Given the description of an element on the screen output the (x, y) to click on. 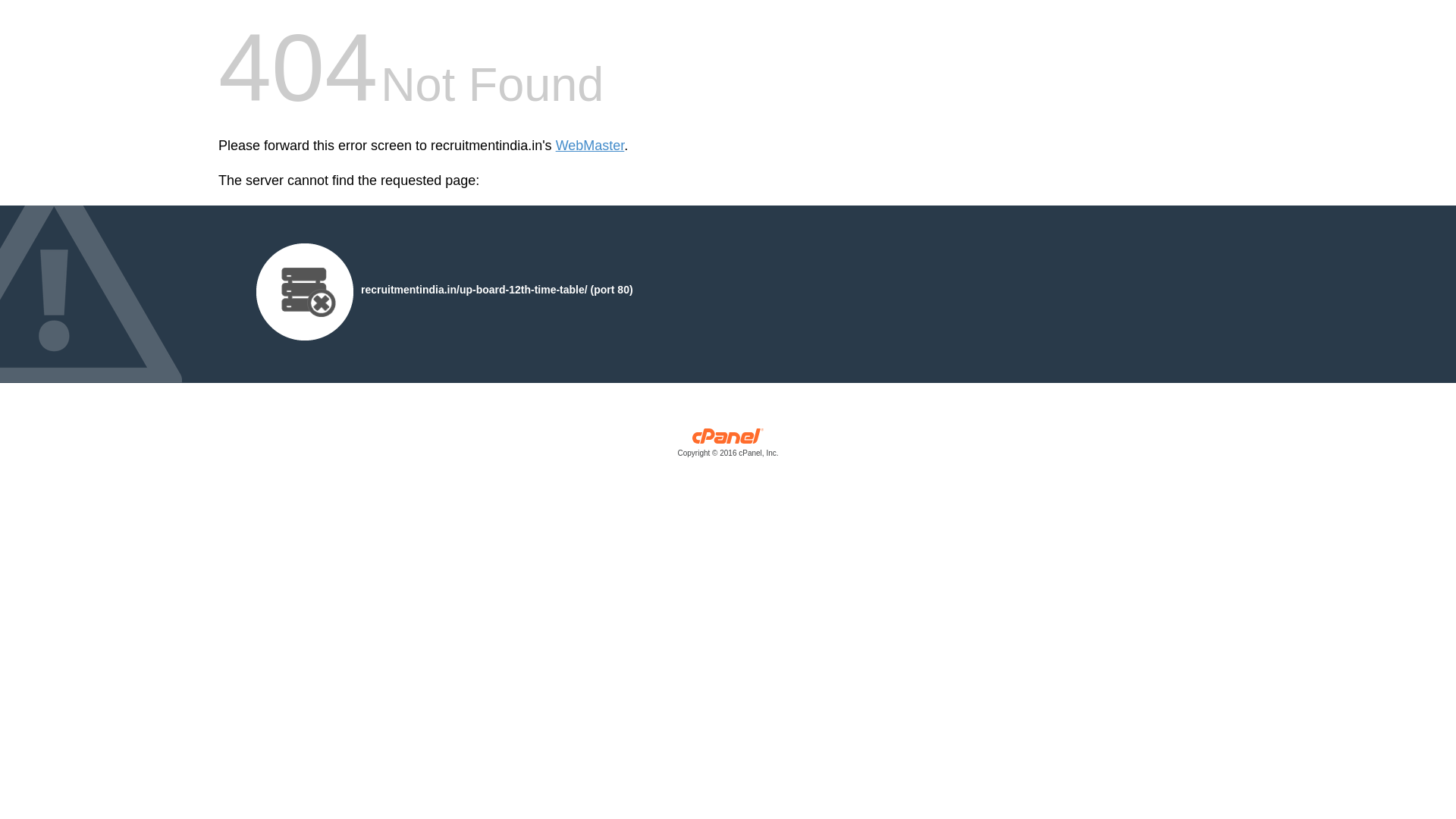
WebMaster (590, 145)
cPanel, Inc. (727, 446)
